Given the description of an element on the screen output the (x, y) to click on. 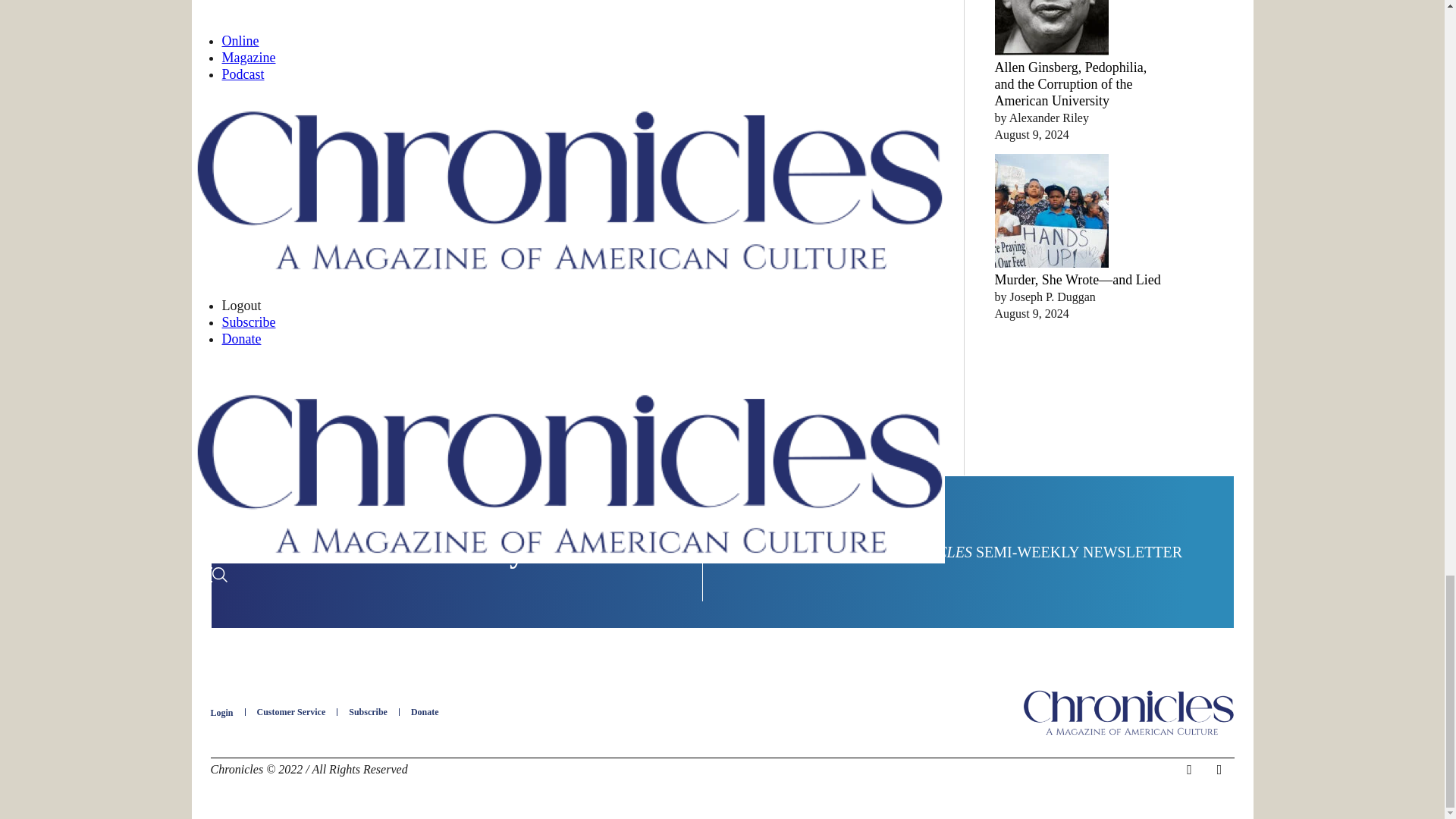
Subscribe (368, 711)
Login (221, 712)
Donate (424, 711)
Facebook (1189, 769)
Customer Service (291, 711)
Twitter (1219, 769)
